Given the description of an element on the screen output the (x, y) to click on. 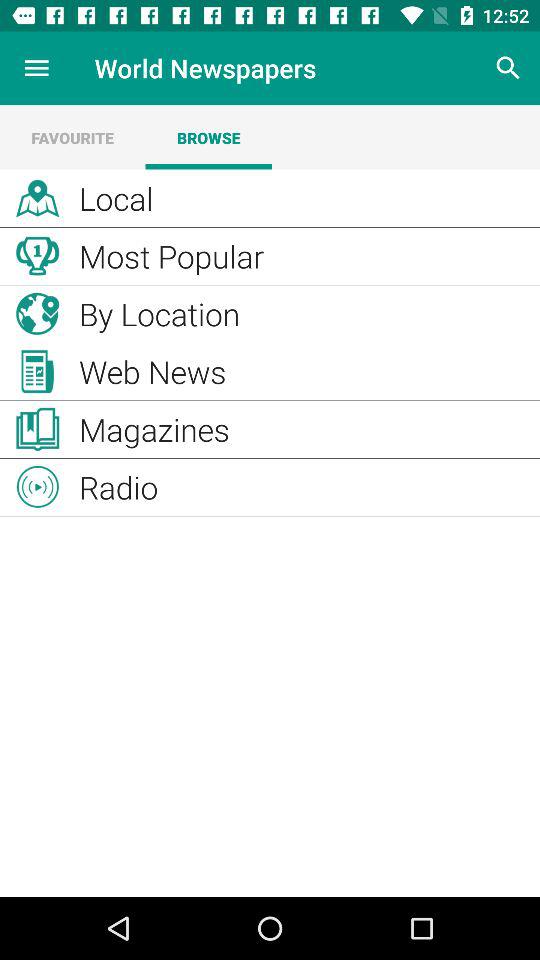
turn off icon next to the world newspapers item (36, 68)
